Given the description of an element on the screen output the (x, y) to click on. 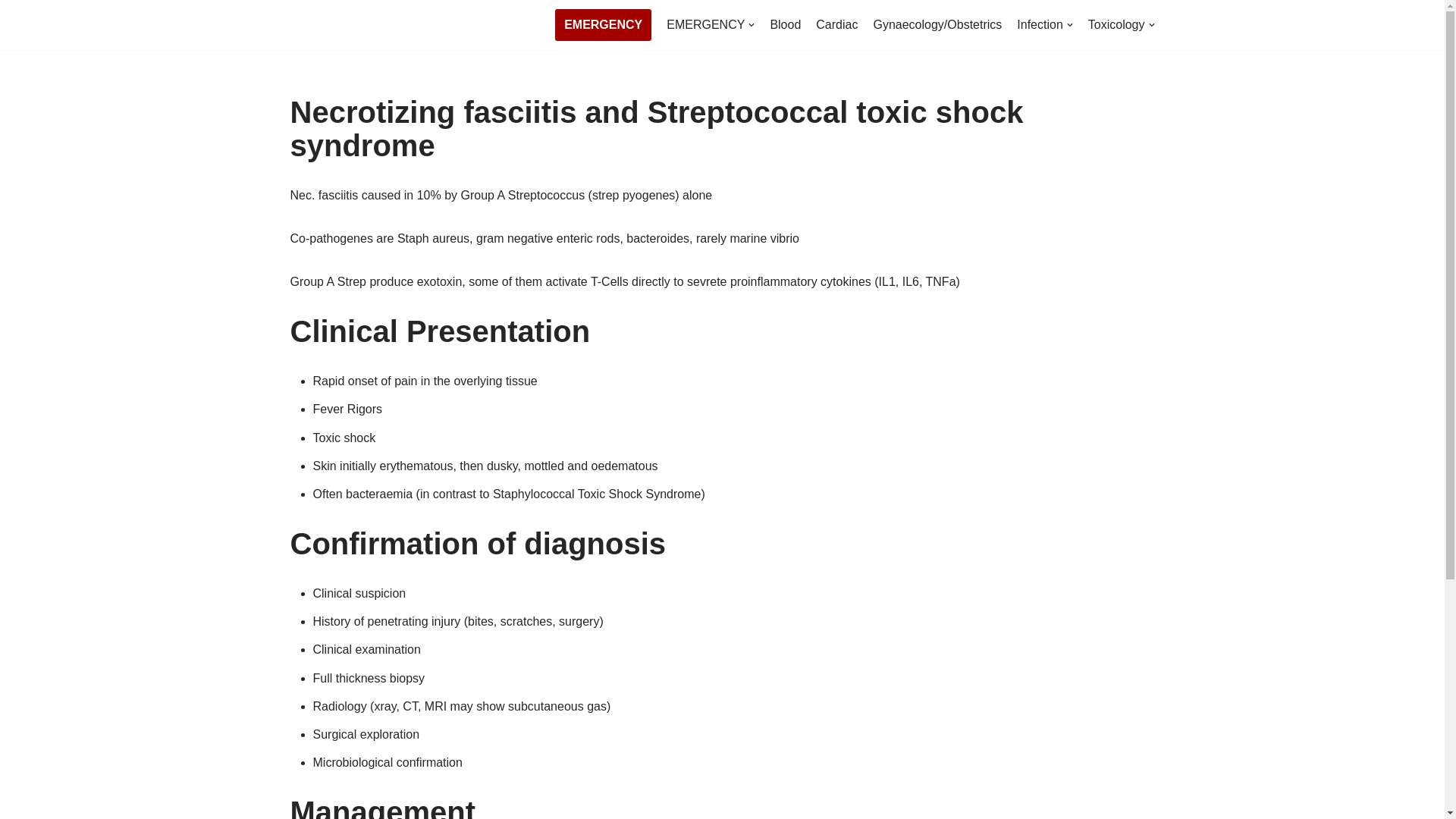
Skip to content Element type: text (11, 31)
Blood Element type: text (784, 24)
EMERGENCY Element type: text (710, 24)
EMERGENCY Element type: text (603, 24)
Cardiac Element type: text (836, 24)
Infection Element type: text (1044, 24)
Toxicology Element type: text (1121, 24)
Gynaecology/Obstetrics Element type: text (936, 24)
